Given the description of an element on the screen output the (x, y) to click on. 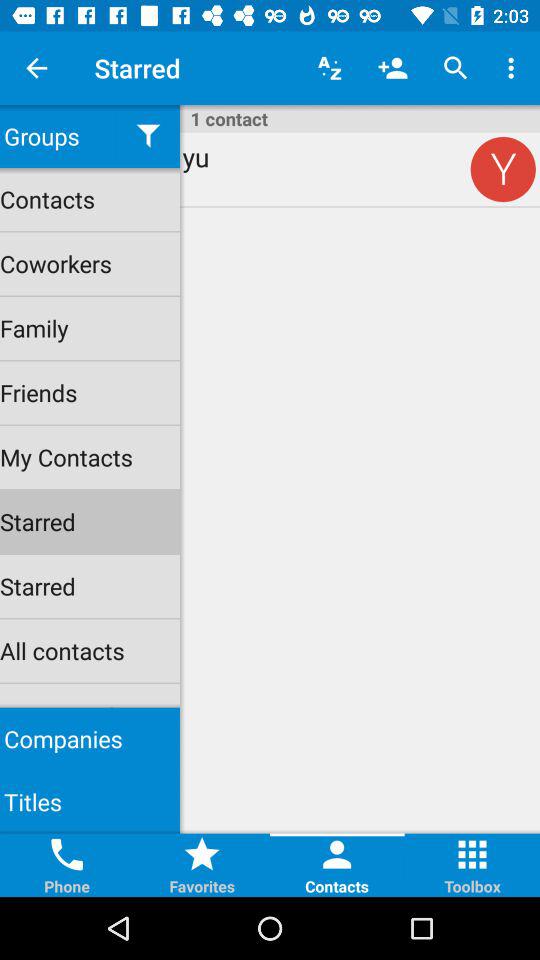
click the search button on the web page (456, 68)
click on the button beside groups (148, 136)
click on the red button in the page (503, 169)
